Given the description of an element on the screen output the (x, y) to click on. 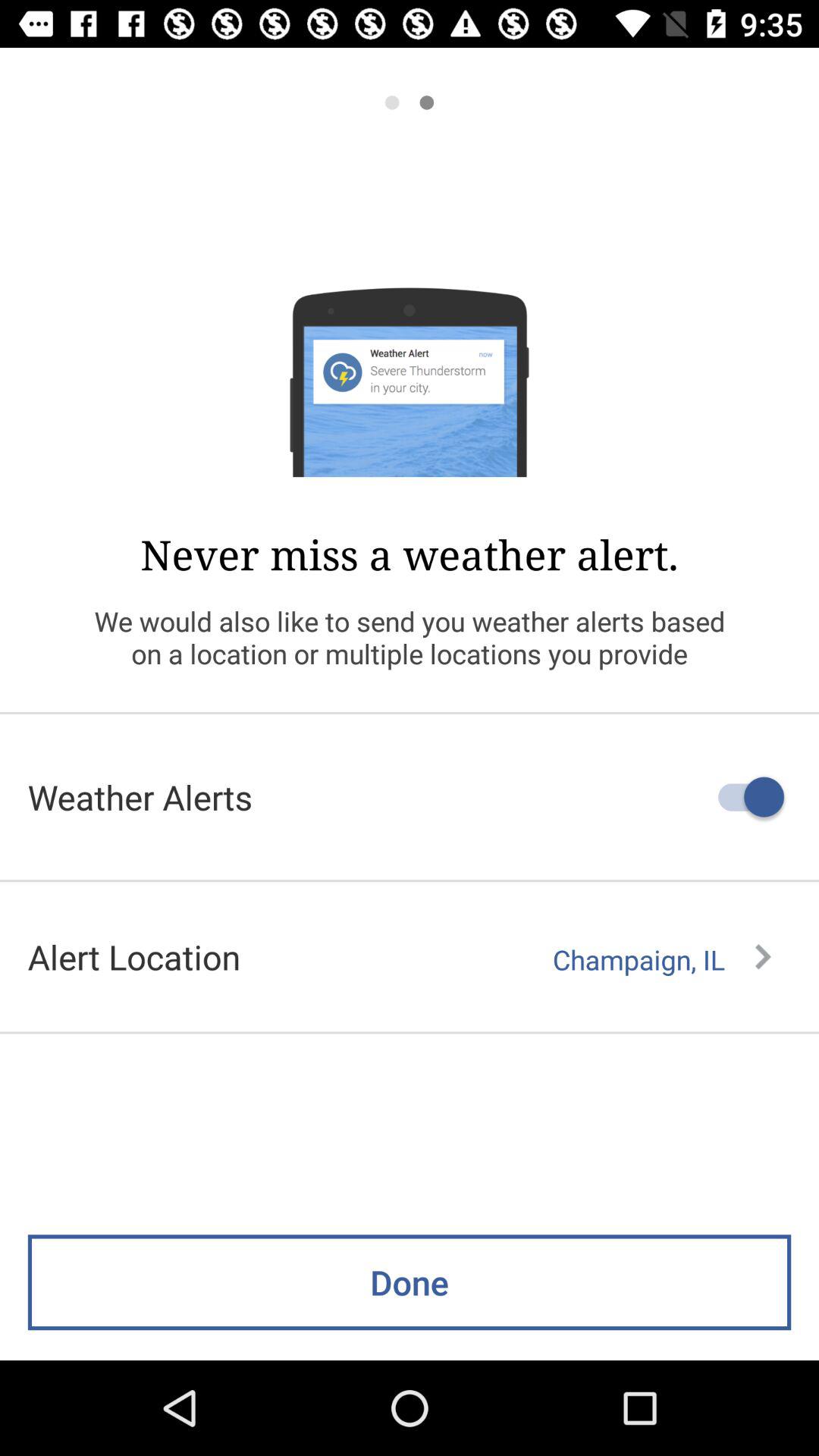
flip to champaign, il item (661, 959)
